Given the description of an element on the screen output the (x, y) to click on. 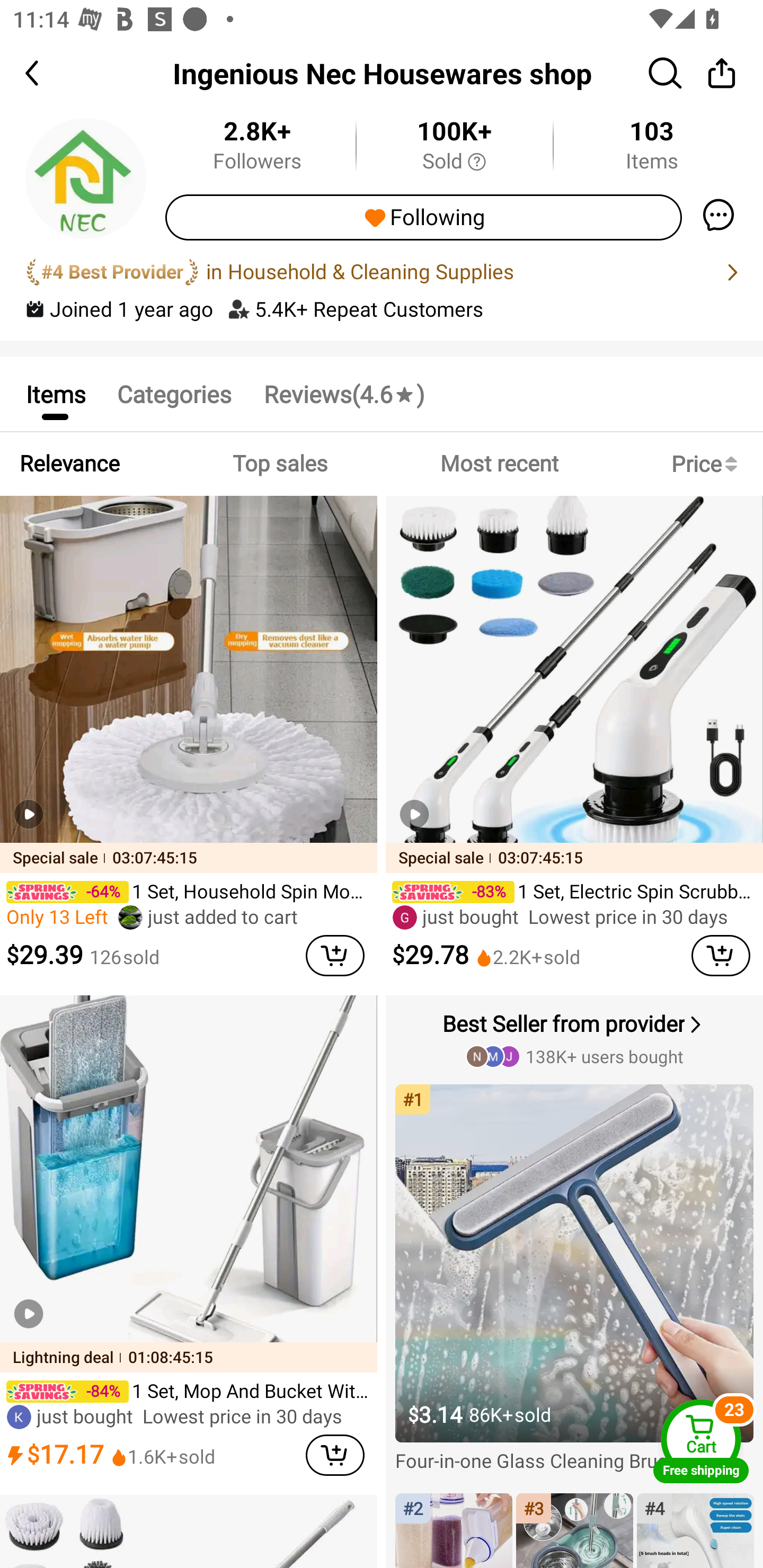
back (47, 72)
share (721, 72)
Sold (453, 161)
#4 Best Provider in Household & Cleaning Supplies (381, 272)
Items (55, 393)
Categories (174, 393)
Reviews(4.6 ) (343, 393)
Relevance (69, 463)
Top sales (279, 463)
Most recent (498, 463)
Price (707, 463)
cart delete (334, 955)
cart delete (720, 955)
Best Seller from provider 138K+ users bought (576, 1037)
Cart Free shipping Cart (701, 1440)
cart delete (334, 1454)
#2 (453, 1530)
#3 (574, 1530)
#4 (695, 1530)
